Given the description of an element on the screen output the (x, y) to click on. 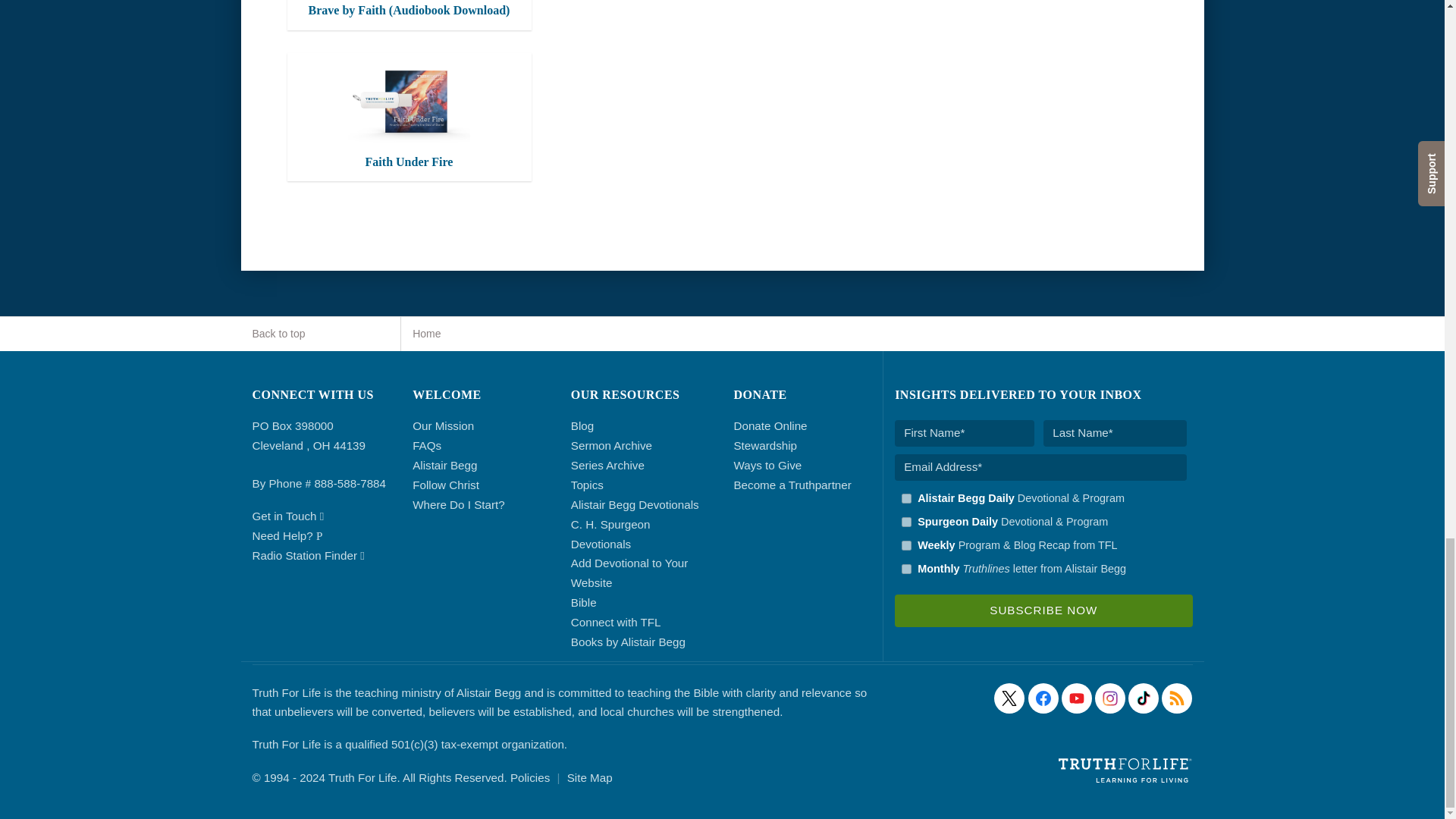
Monthly letter from Alistair Begg (906, 569)
Alistair Begg Daily Devotional (906, 498)
Daily Devotional (906, 521)
Facebook (1042, 698)
TikTok (1143, 698)
Twitter (1009, 698)
YouTube (1076, 698)
Weekly Recap (906, 545)
Subscribe Now (1043, 610)
Instagram (1109, 698)
